Given the description of an element on the screen output the (x, y) to click on. 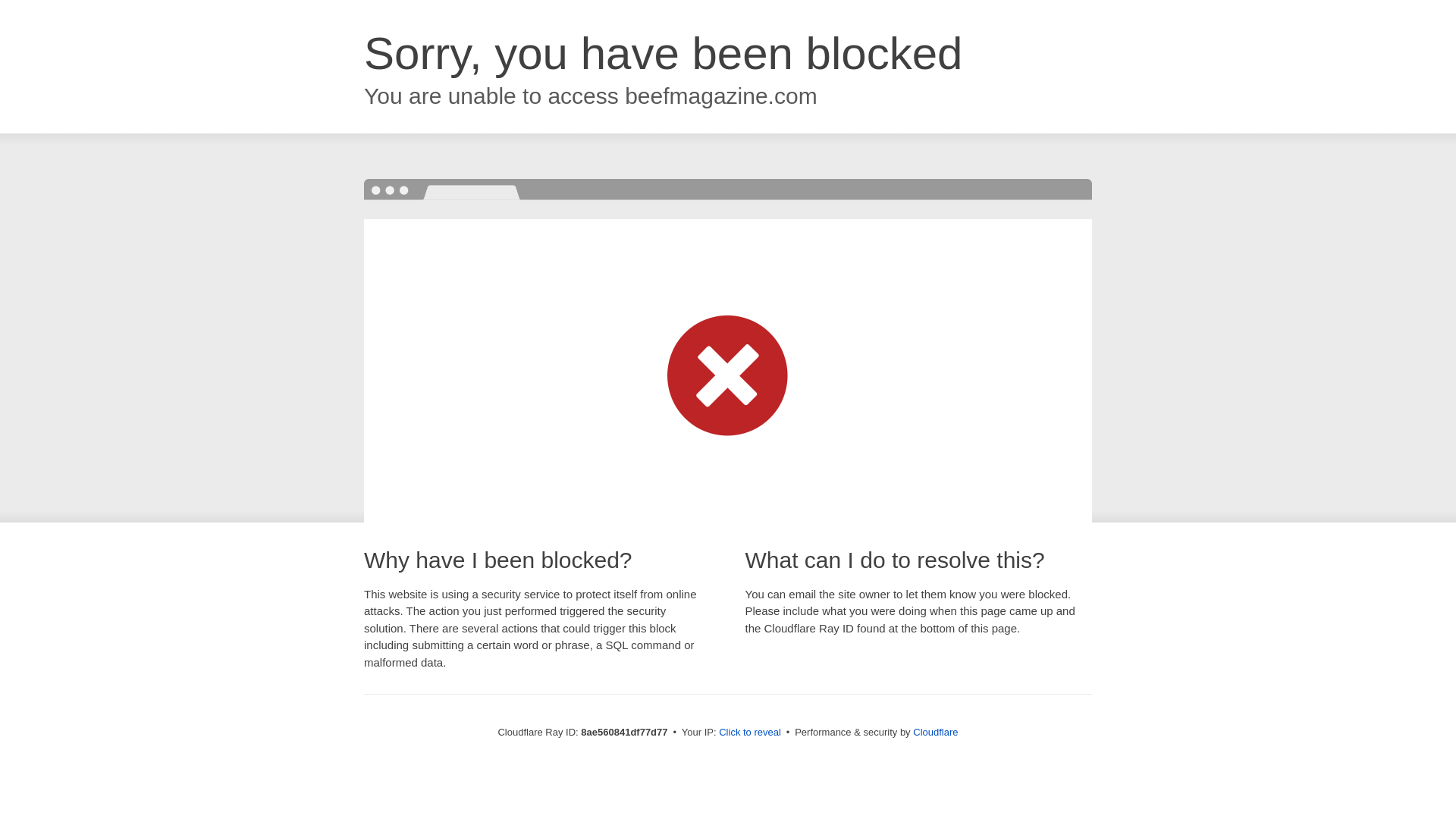
Cloudflare (935, 731)
Click to reveal (749, 732)
